Given the description of an element on the screen output the (x, y) to click on. 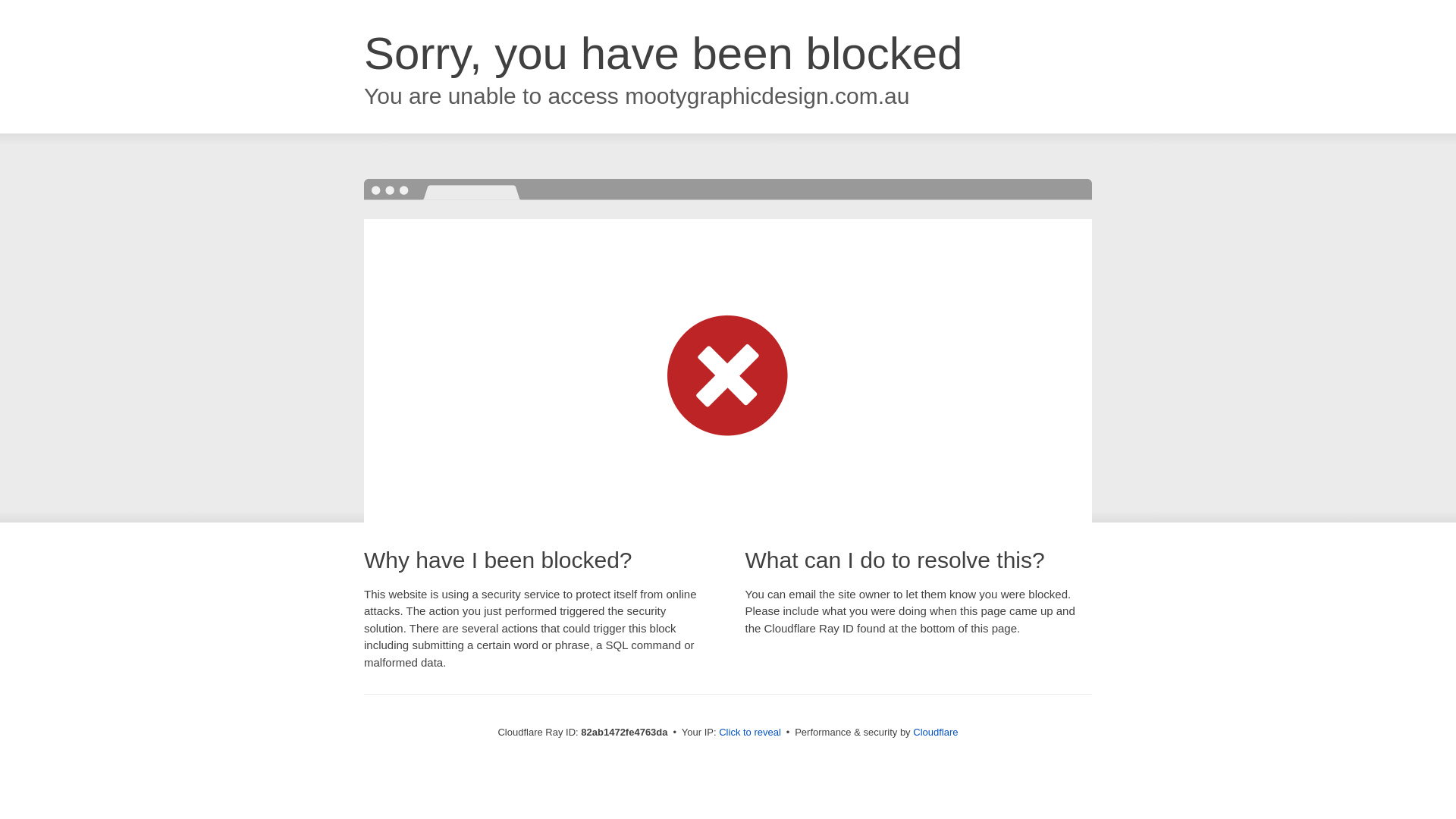
Click to reveal Element type: text (749, 732)
Cloudflare Element type: text (935, 731)
